Given the description of an element on the screen output the (x, y) to click on. 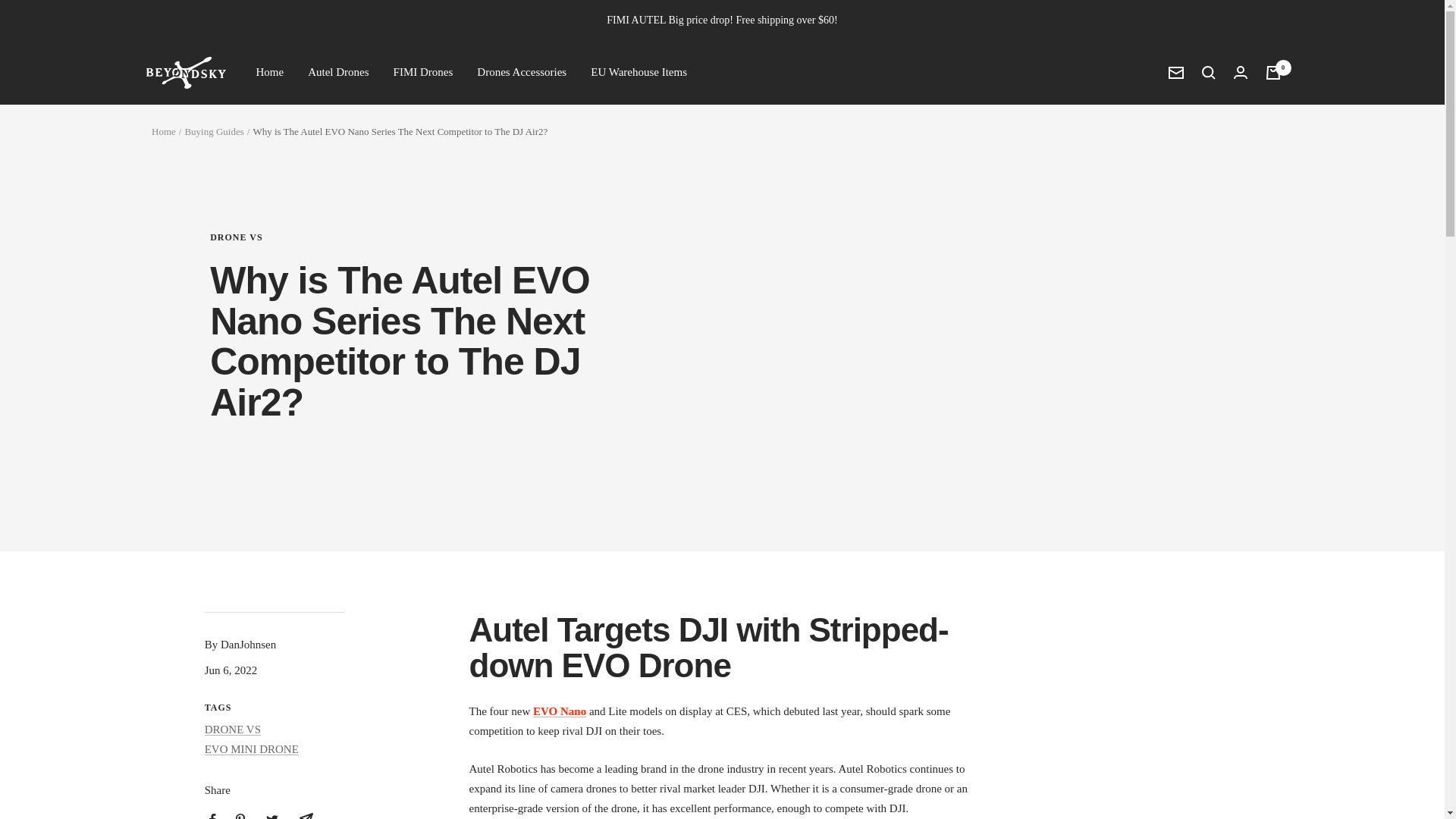
DRONE VS (438, 237)
Drones Accessories (521, 72)
FIMI Drones (422, 72)
Autel Drones (337, 72)
BeyondskyRC (185, 72)
autel evo nano drone (559, 711)
0 (1272, 72)
Newsletter (1174, 72)
Home (163, 131)
Home (269, 72)
Buying Guides (213, 131)
EU Warehouse Items (639, 72)
